Given the description of an element on the screen output the (x, y) to click on. 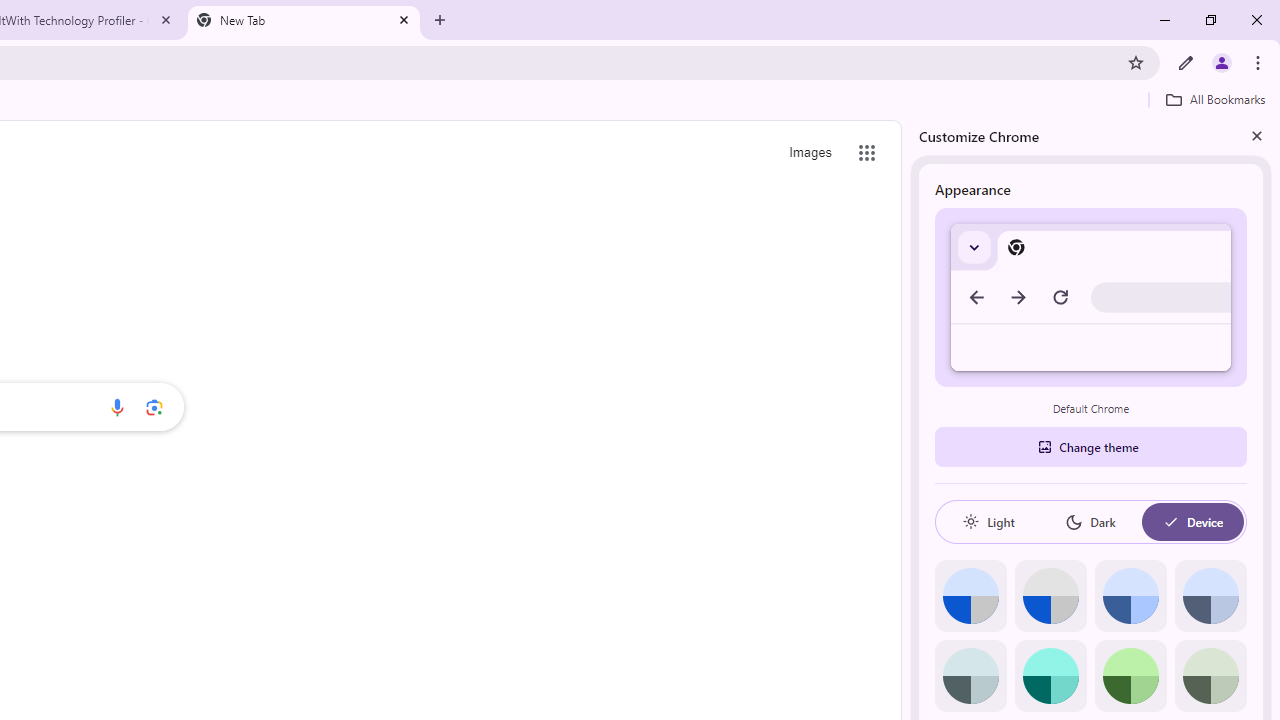
Light (988, 521)
Green (1130, 676)
Aqua (1050, 676)
Default color (970, 596)
Change theme (1090, 446)
Dark (1090, 521)
Grey default color (1050, 596)
Grey (970, 676)
Cool grey (1210, 596)
